Given the description of an element on the screen output the (x, y) to click on. 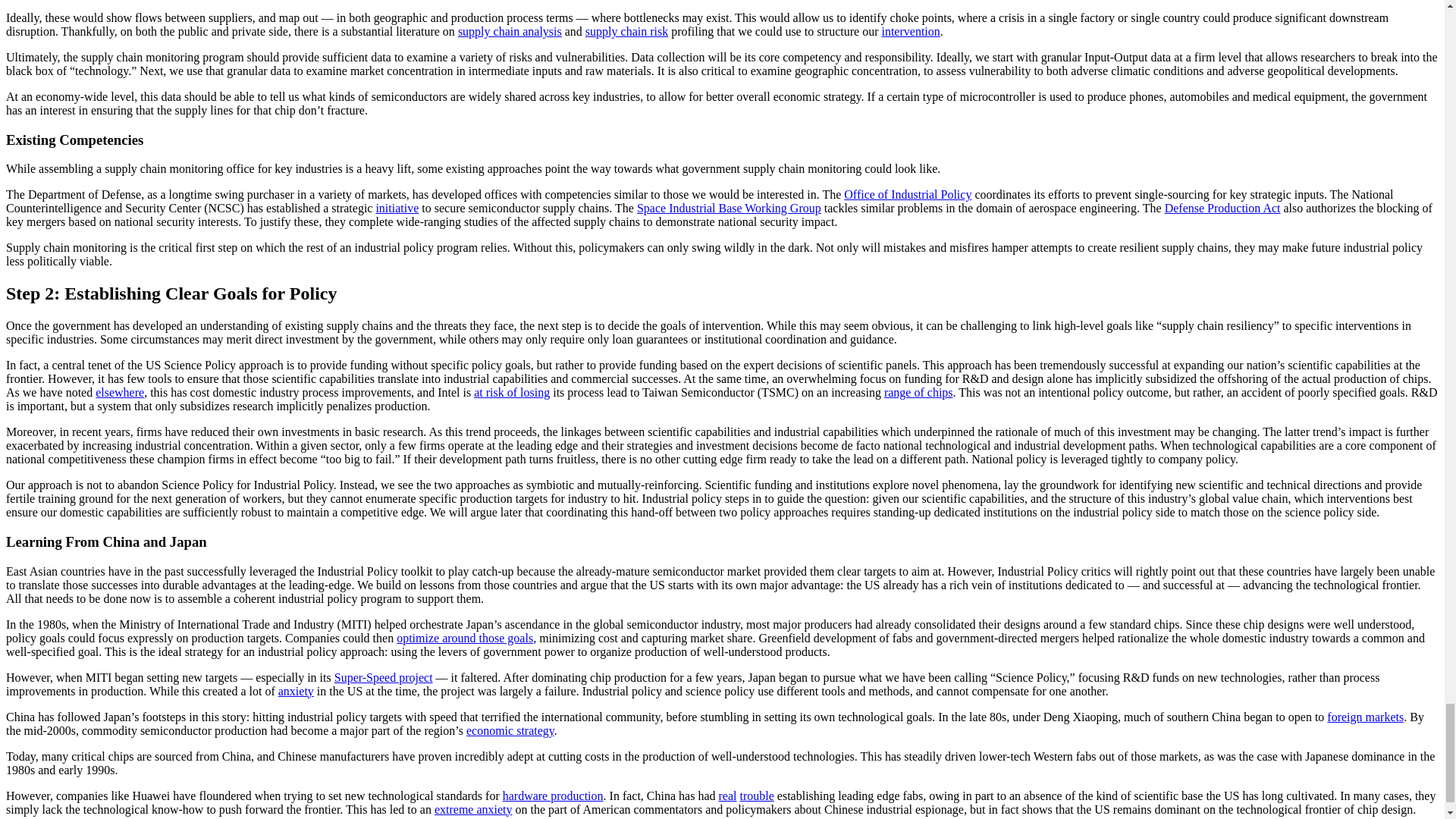
elsewhere (120, 391)
intervention (909, 31)
Defense Production Act (1222, 207)
Office of Industrial Policy (907, 194)
initiative (397, 207)
Space Industrial Base Working Group (729, 207)
supply chain analysis (510, 31)
supply chain risk (626, 31)
